Given the description of an element on the screen output the (x, y) to click on. 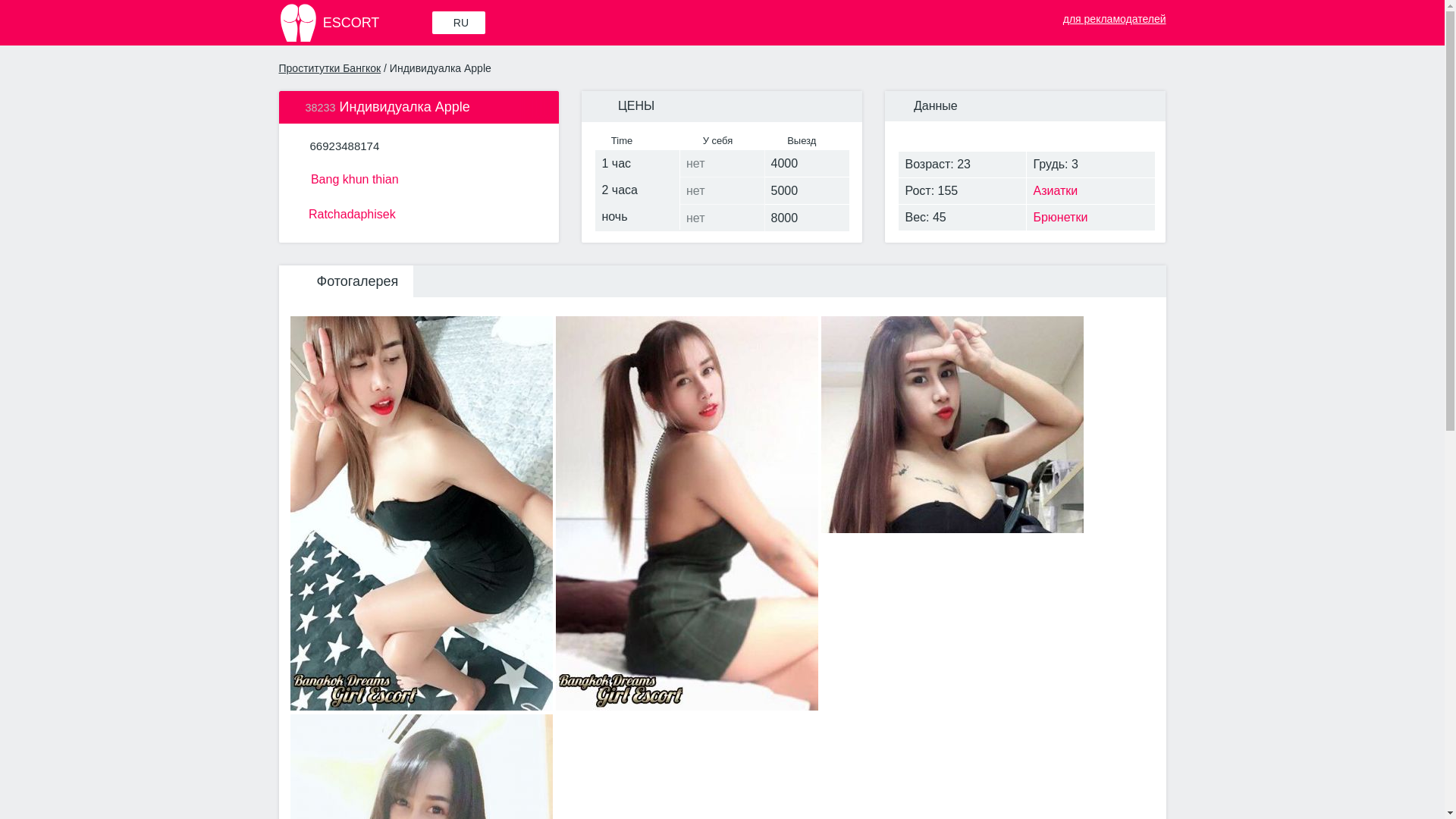
Ratchadaphisek (418, 212)
ESCORT (354, 22)
Bang khun thian (418, 177)
66923488174 (345, 145)
